Given the description of an element on the screen output the (x, y) to click on. 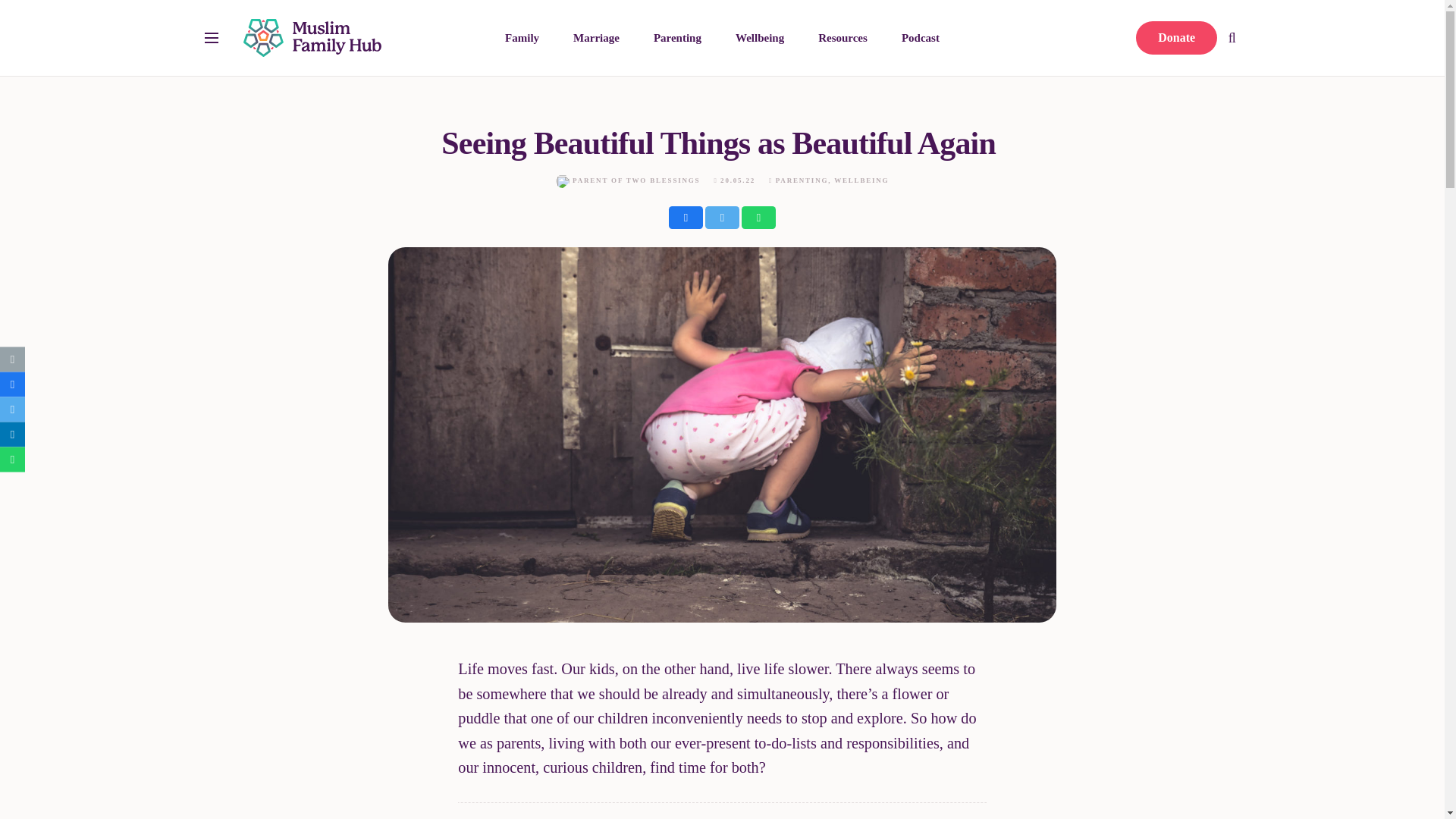
Wellbeing (758, 37)
PARENTING (802, 180)
Donate (1175, 38)
Tweet this (721, 217)
Share this (758, 217)
Marriage (596, 37)
Share this (685, 217)
Parenting (676, 37)
Resources (843, 37)
WELLBEING (861, 180)
PARENT OF TWO BLESSINGS (636, 181)
Podcast (919, 37)
Family (521, 37)
